Given the description of an element on the screen output the (x, y) to click on. 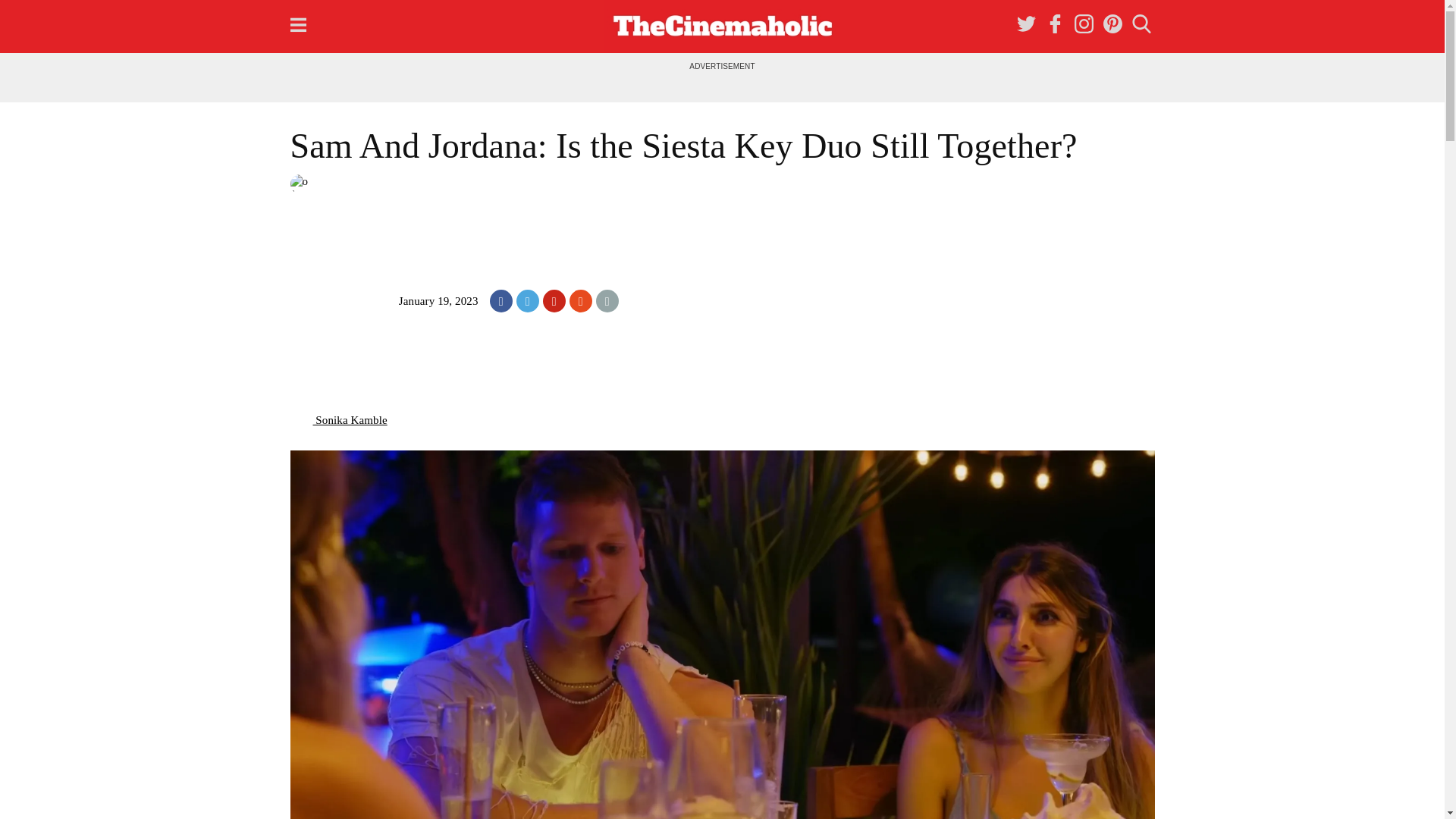
Sonika Kamble (338, 419)
